Given the description of an element on the screen output the (x, y) to click on. 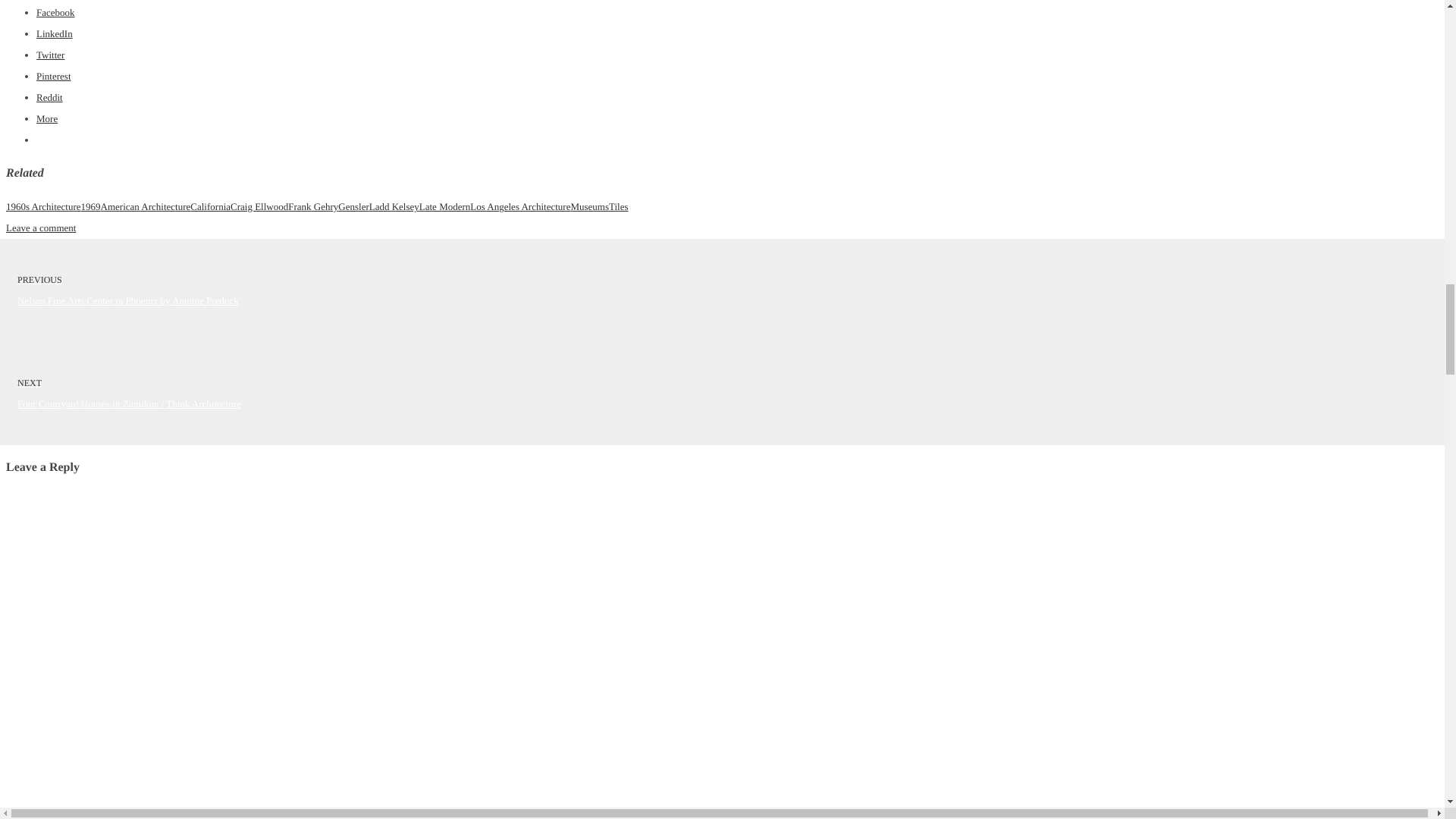
Click to share on Facebook (55, 12)
Click to share on LinkedIn (54, 33)
Click to share on Twitter (50, 54)
Click to share on Reddit (49, 97)
Click to share on Pinterest (53, 75)
